Given the description of an element on the screen output the (x, y) to click on. 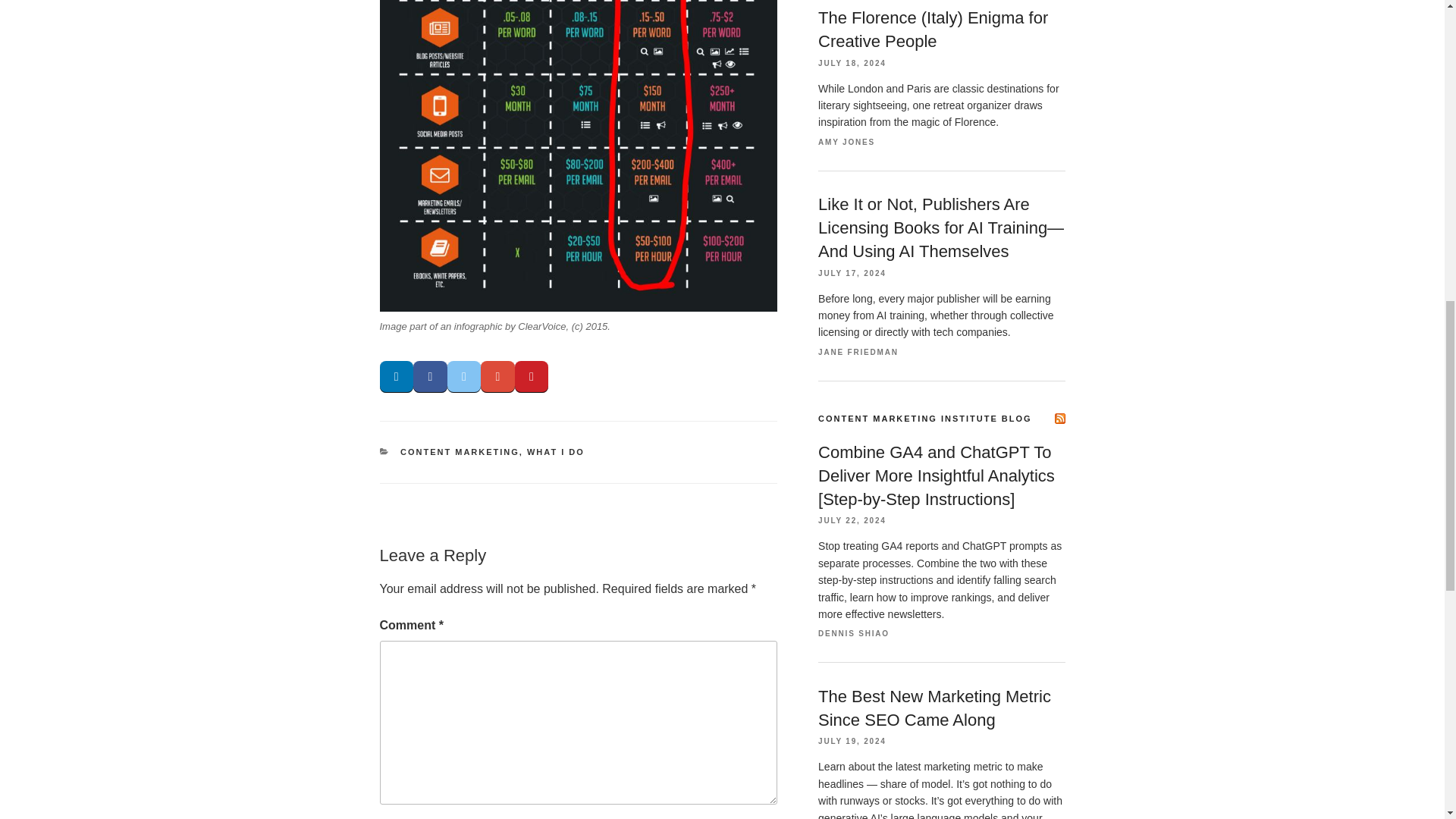
Facebook (429, 377)
How much should you expect to pay your freelance writer? (577, 156)
CONTENT MARKETING (459, 451)
Pinterest (531, 377)
Linkedin (395, 377)
Twitter (463, 377)
WHAT I DO (556, 451)
